Given the description of an element on the screen output the (x, y) to click on. 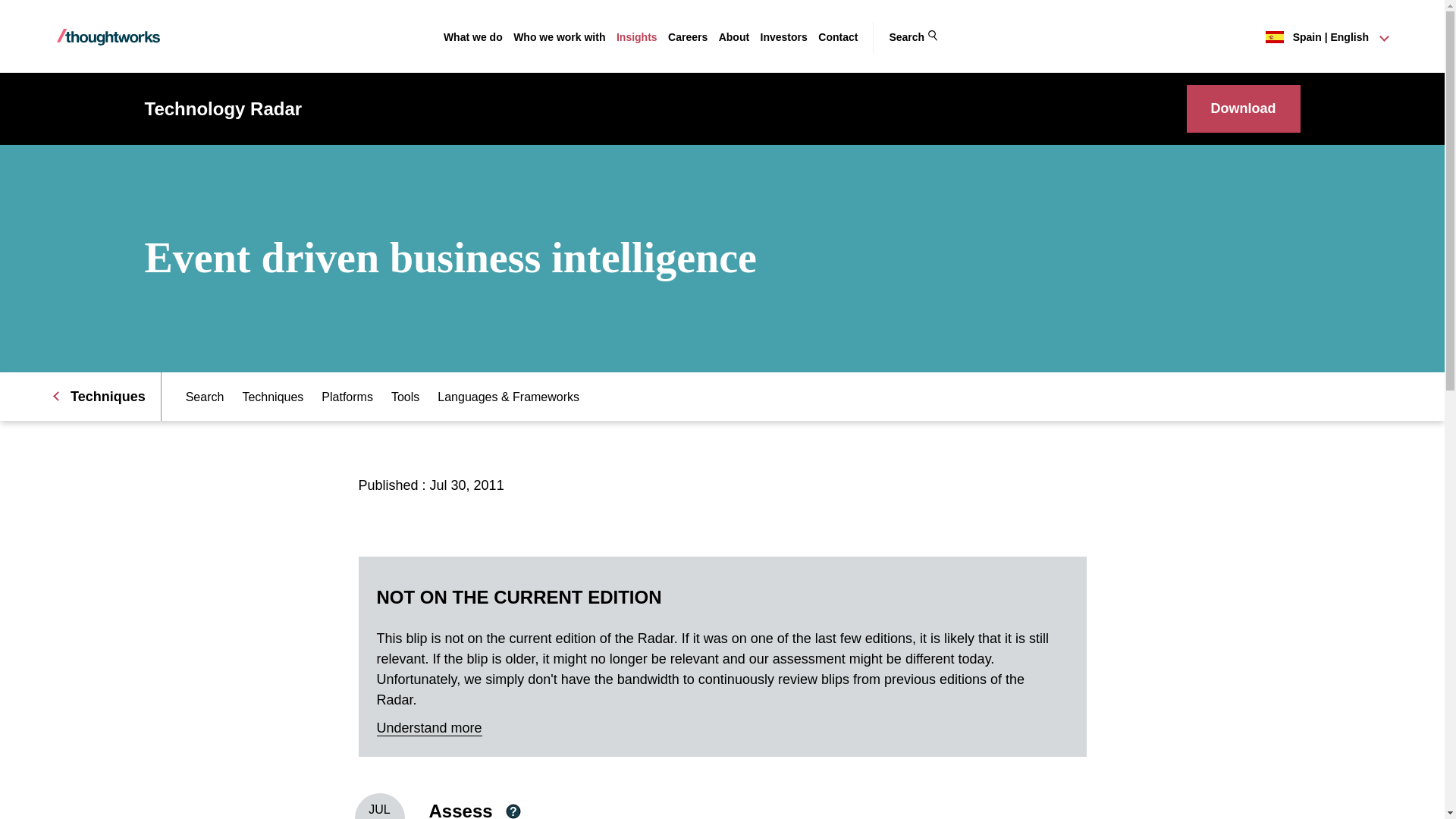
Who we work with (559, 37)
Insights (636, 37)
What we do (473, 37)
Careers (687, 37)
What we do (473, 37)
Thoughtworks (108, 36)
? (513, 811)
Thoughtworks (108, 36)
Who we work with (559, 37)
Insights (636, 37)
